Given the description of an element on the screen output the (x, y) to click on. 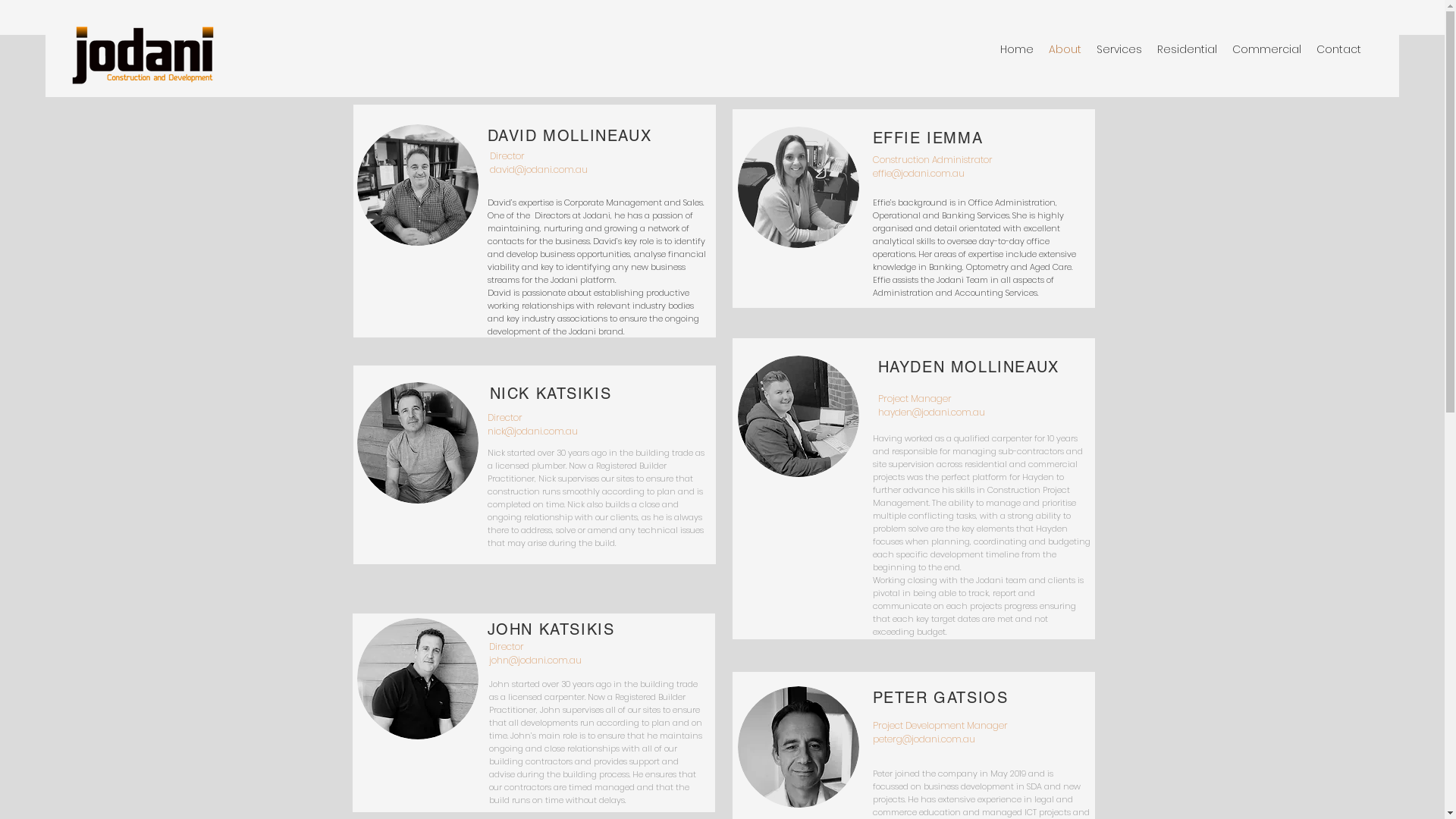
Home Element type: text (1016, 49)
Contact Element type: text (1338, 49)
Services Element type: text (1118, 49)
Commercial Element type: text (1266, 49)
About Element type: text (1064, 49)
